Given the description of an element on the screen output the (x, y) to click on. 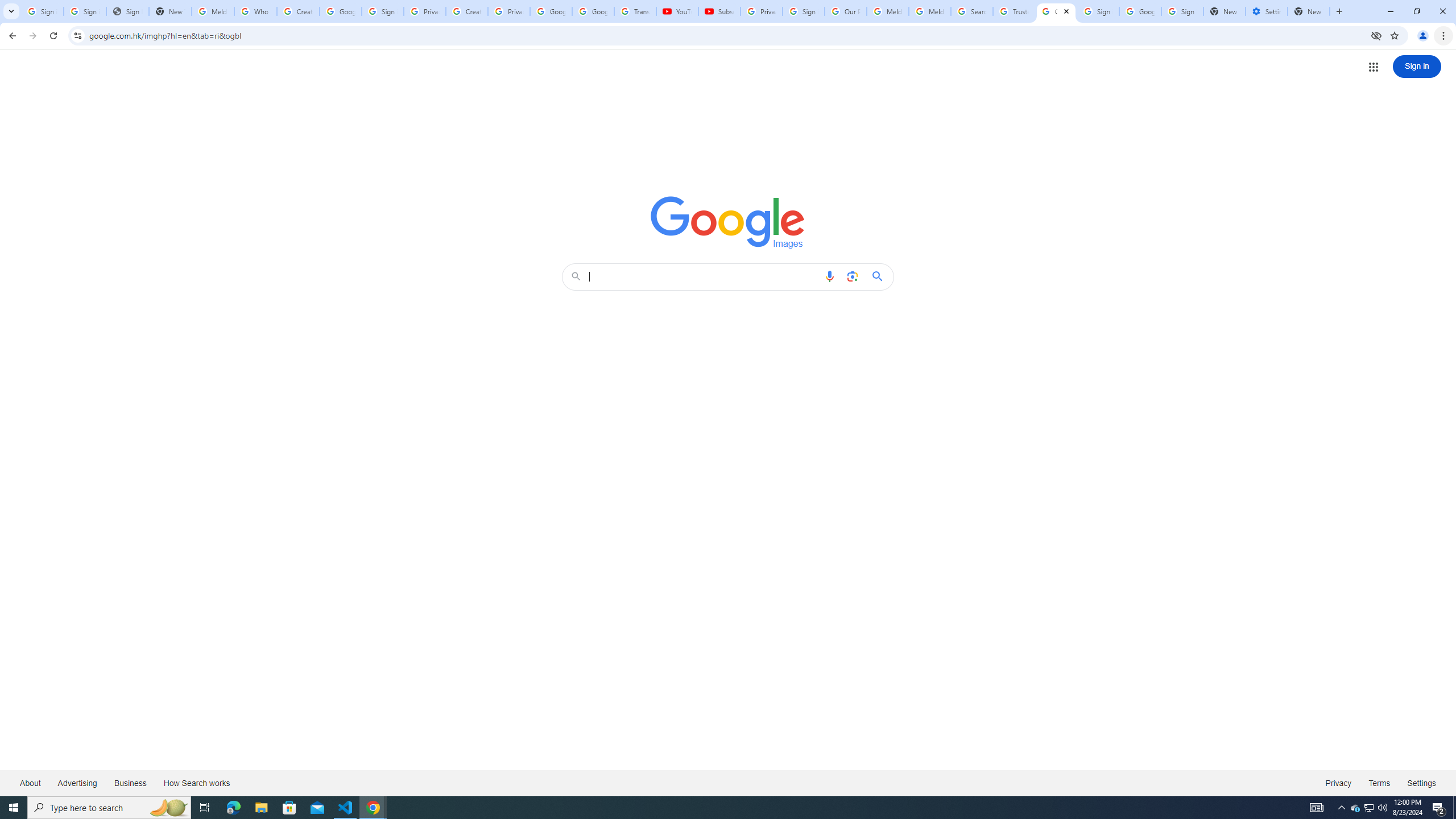
Advertising (77, 782)
Settings - Addresses and more (1266, 11)
New Tab (1308, 11)
Google Images (1055, 11)
Who is my administrator? - Google Account Help (255, 11)
